Given the description of an element on the screen output the (x, y) to click on. 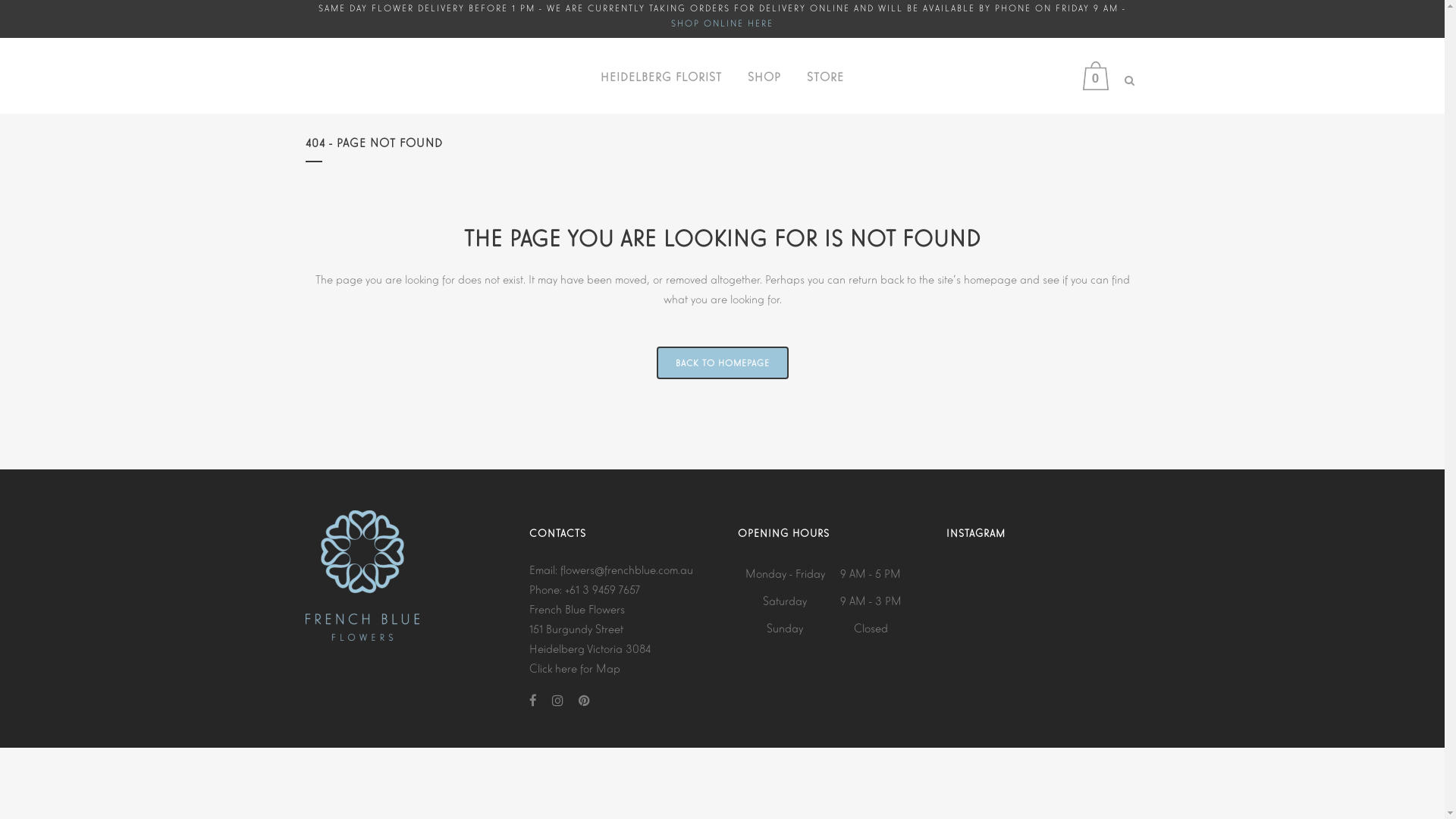
HEIDELBERG FLORIST Element type: text (660, 75)
flowers@frenchblue.com.au Element type: text (625, 568)
0 Element type: text (1098, 75)
STORE Element type: text (824, 75)
BACK TO HOMEPAGE Element type: text (722, 362)
SHOP ONLINE HERE Element type: text (722, 22)
SHOP Element type: text (763, 75)
+61 3 9459 7657 Element type: text (601, 588)
Click here for Map Element type: text (574, 666)
